Given the description of an element on the screen output the (x, y) to click on. 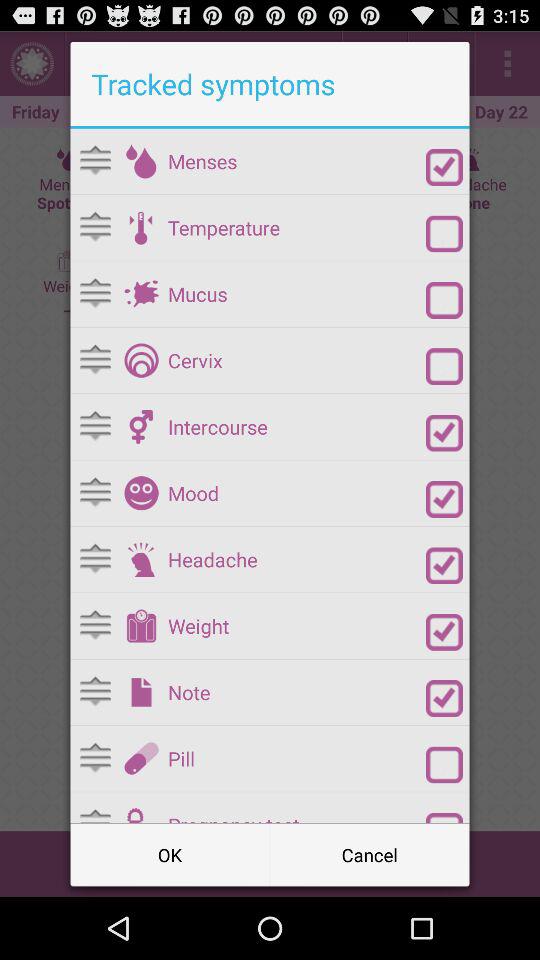
add symptom of headache (141, 559)
